Given the description of an element on the screen output the (x, y) to click on. 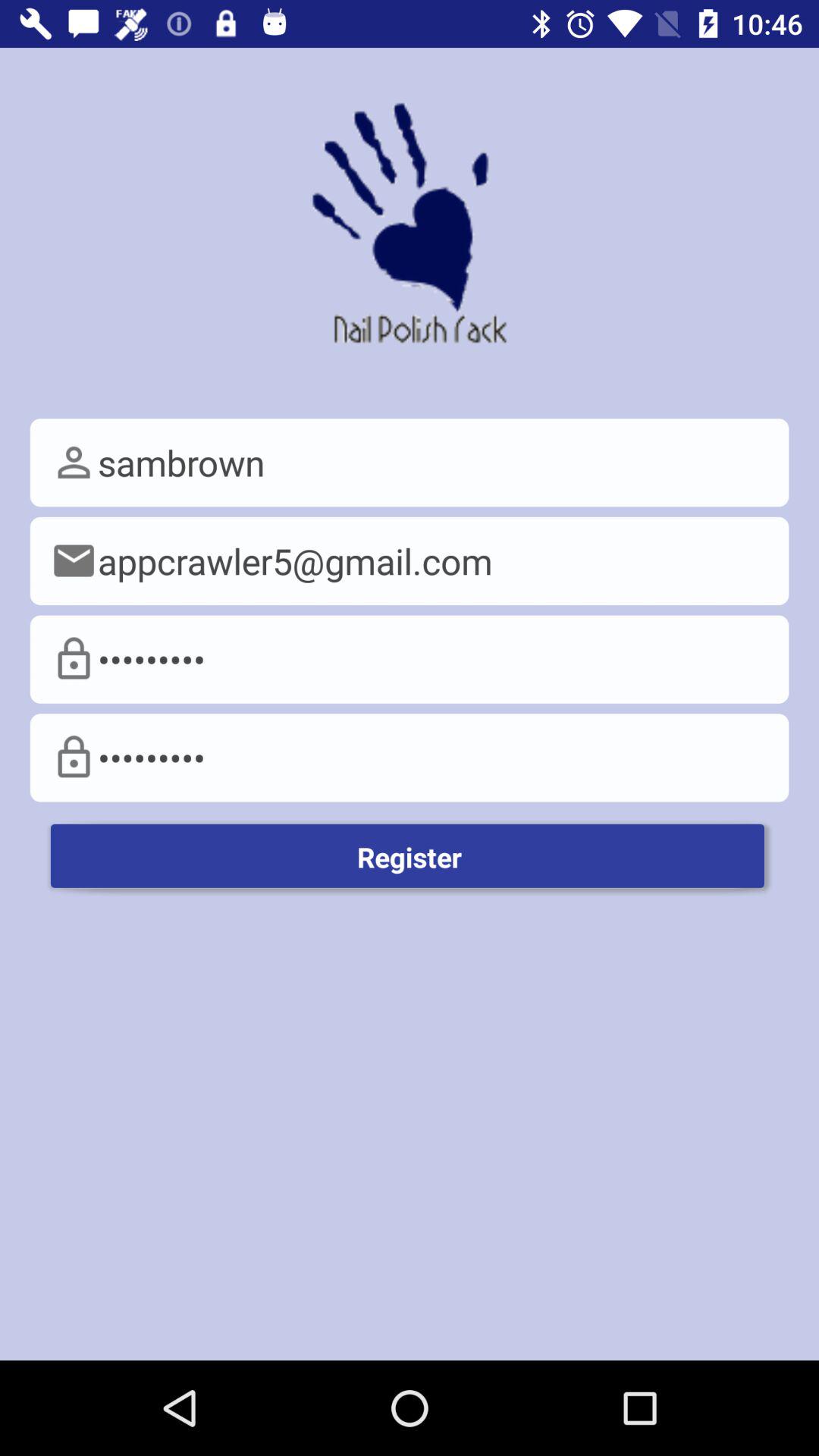
jump to the appcrawler5@gmail.com (409, 560)
